Given the description of an element on the screen output the (x, y) to click on. 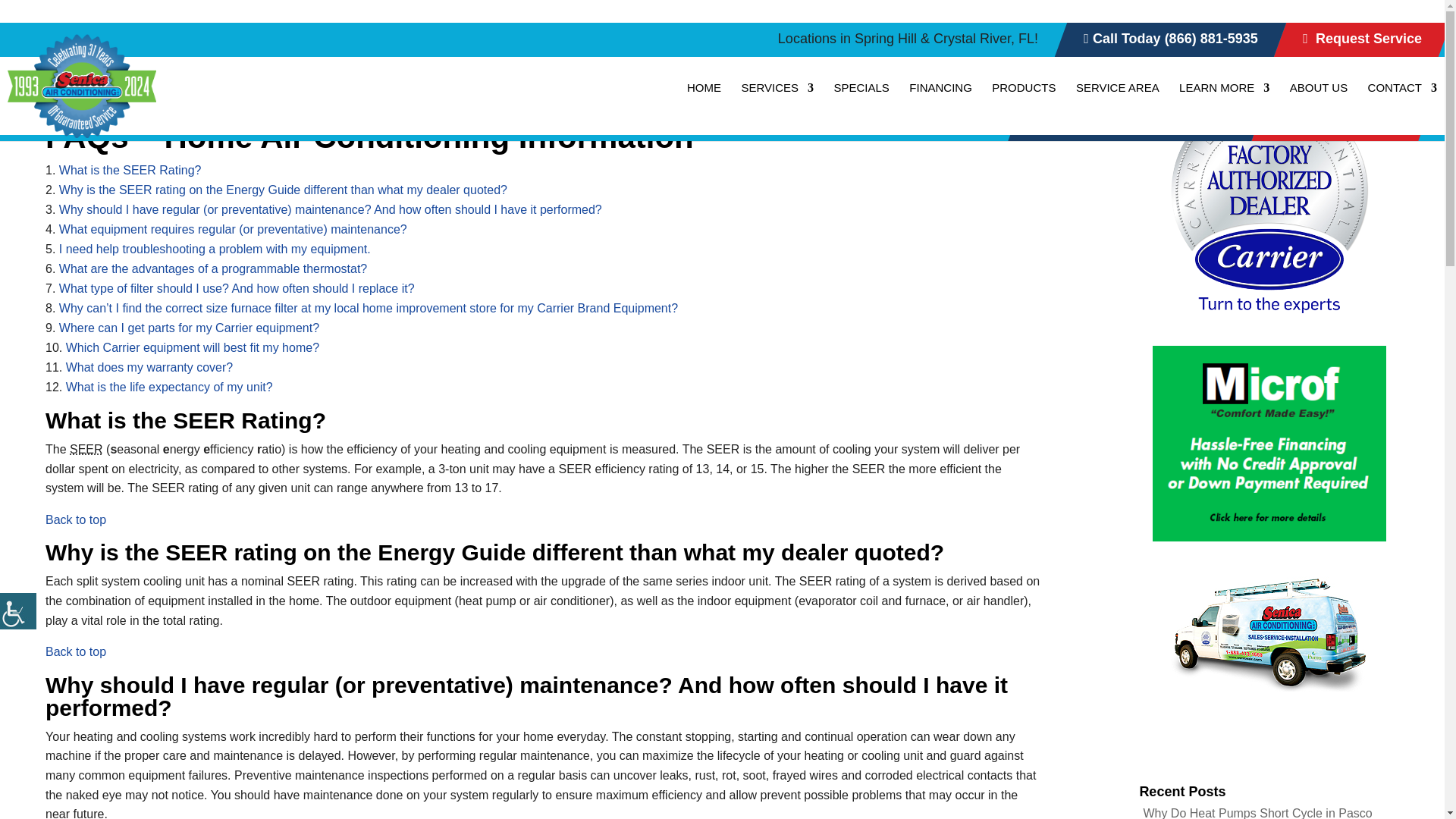
HOME (703, 99)
SERVICES (777, 99)
SPECIALS (860, 99)
FINANCING (940, 99)
SERVICE AREA (1116, 99)
Accessibility Helper sidebar (18, 610)
PRODUCTS (1023, 99)
